Given the description of an element on the screen output the (x, y) to click on. 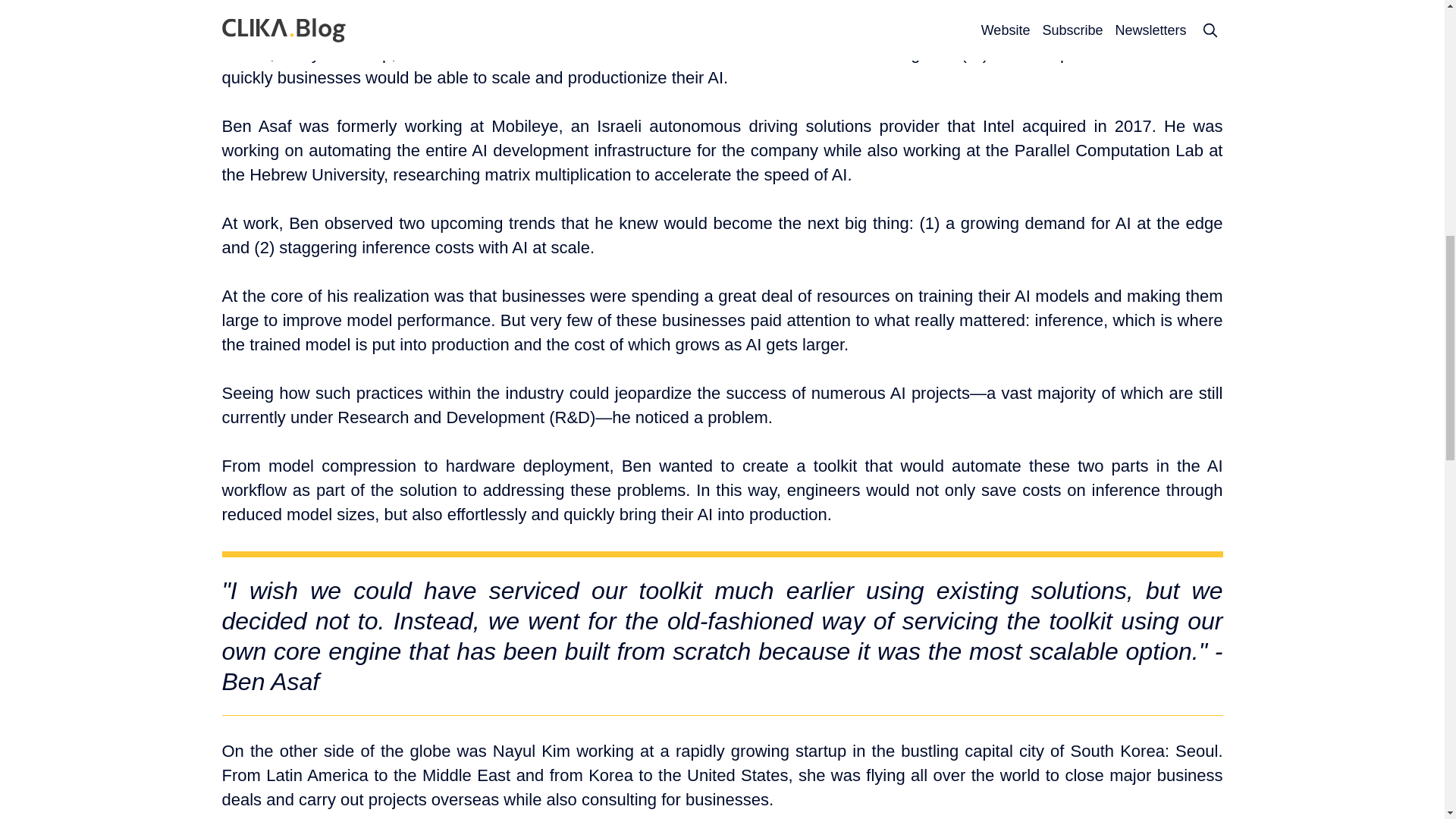
Jane Han (732, 0)
CLIKA (777, 0)
